Given the description of an element on the screen output the (x, y) to click on. 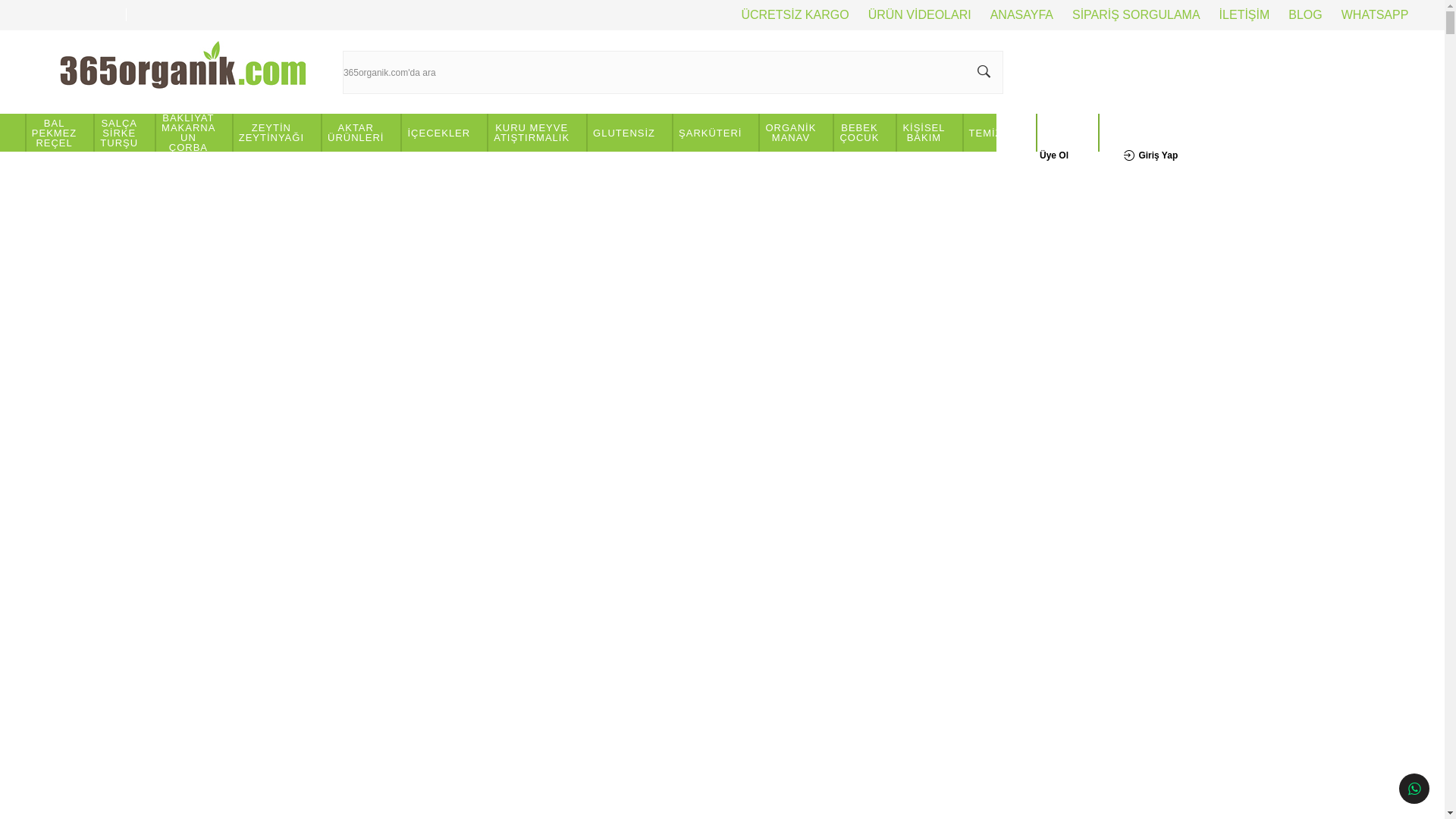
BLOG Element type: text (1295, 15)
www.365organik.com Element type: hover (182, 71)
VEGAN Element type: text (1067, 132)
ANASAYFA Element type: text (1012, 15)
WHATSAPP Element type: text (1365, 15)
